Given the description of an element on the screen output the (x, y) to click on. 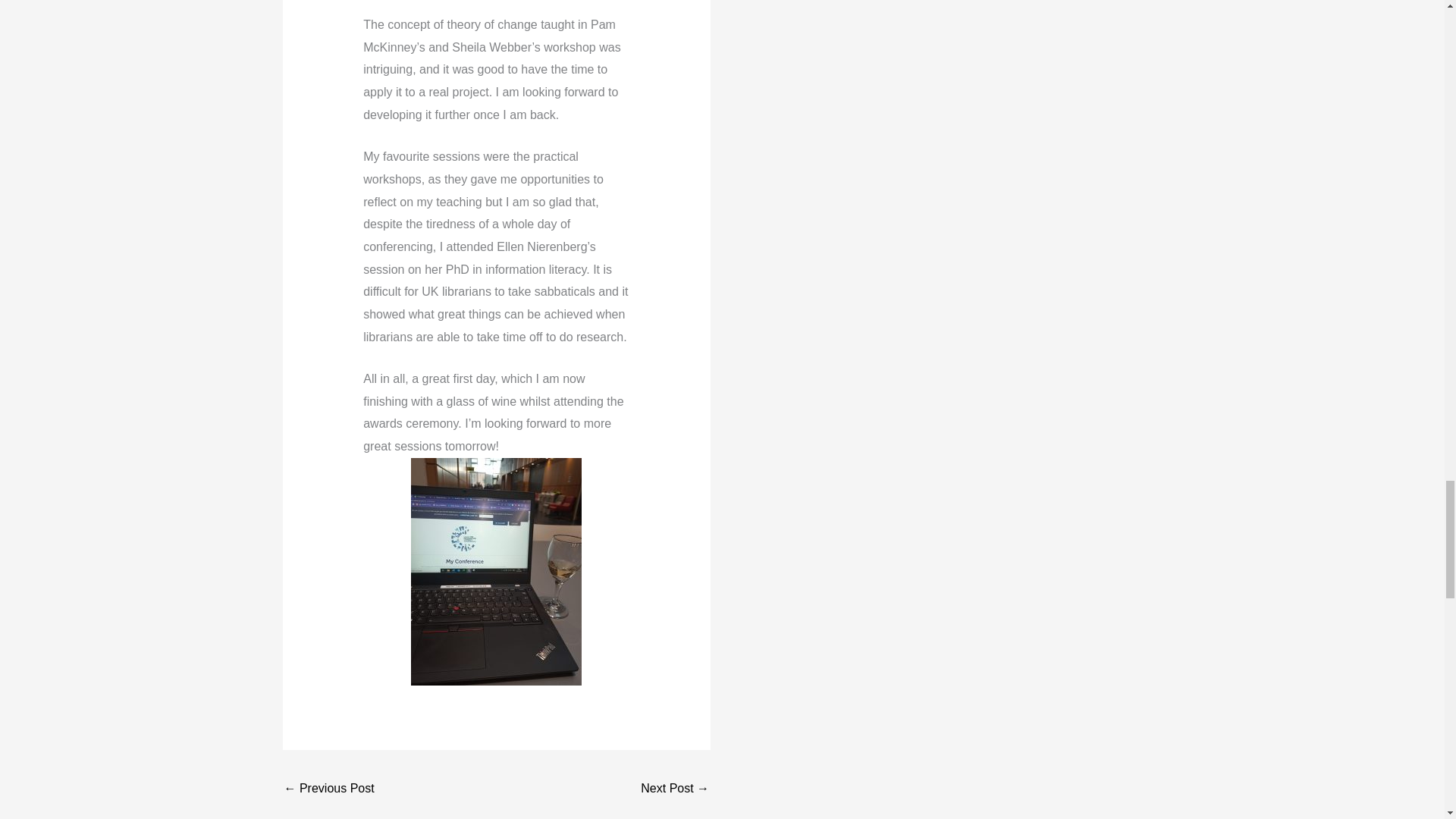
In memoriam: Ross Todd (328, 789)
